Given the description of an element on the screen output the (x, y) to click on. 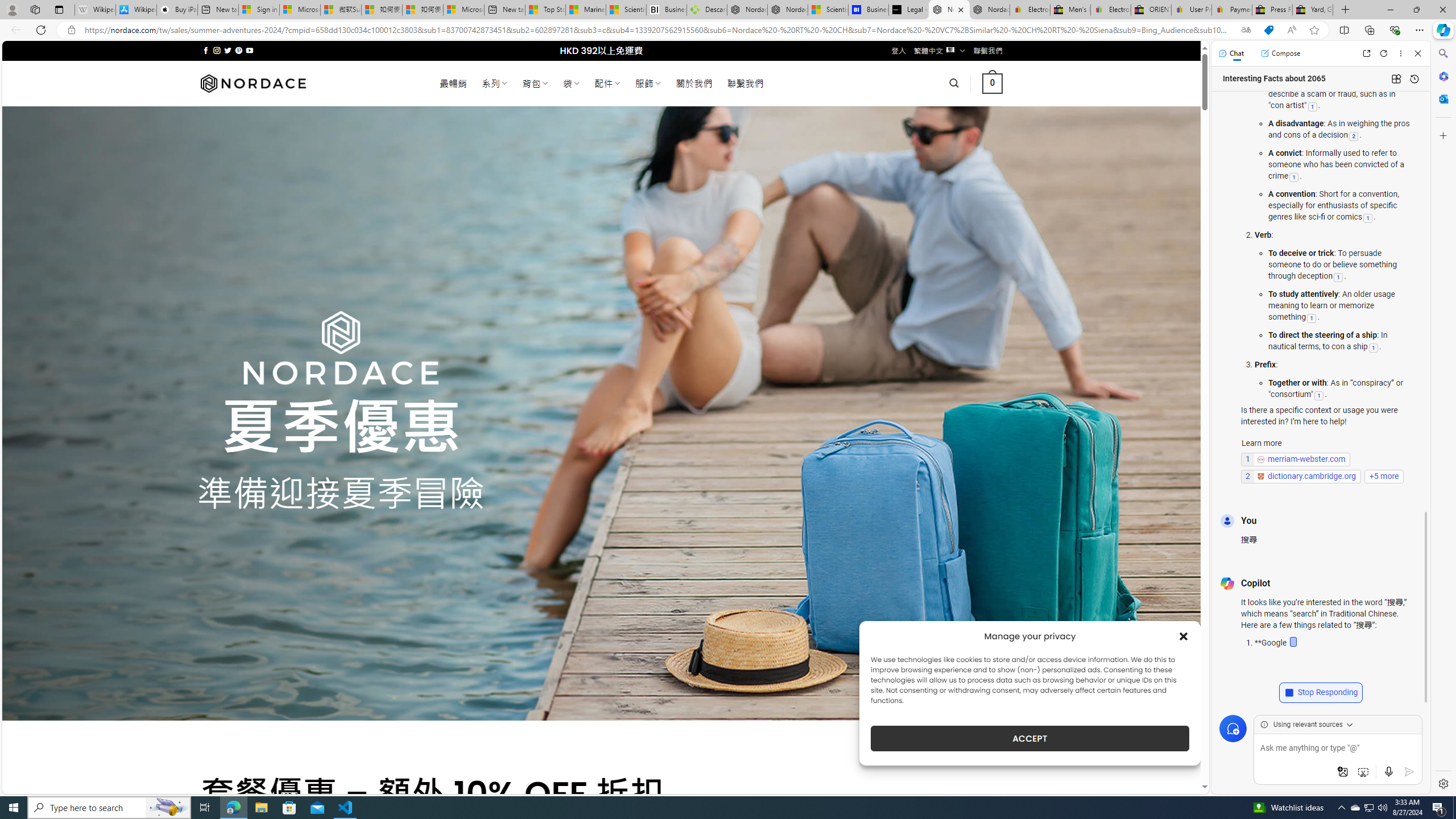
Chat (1231, 52)
ACCEPT (1029, 738)
Descarga Driver Updater (706, 9)
